Given the description of an element on the screen output the (x, y) to click on. 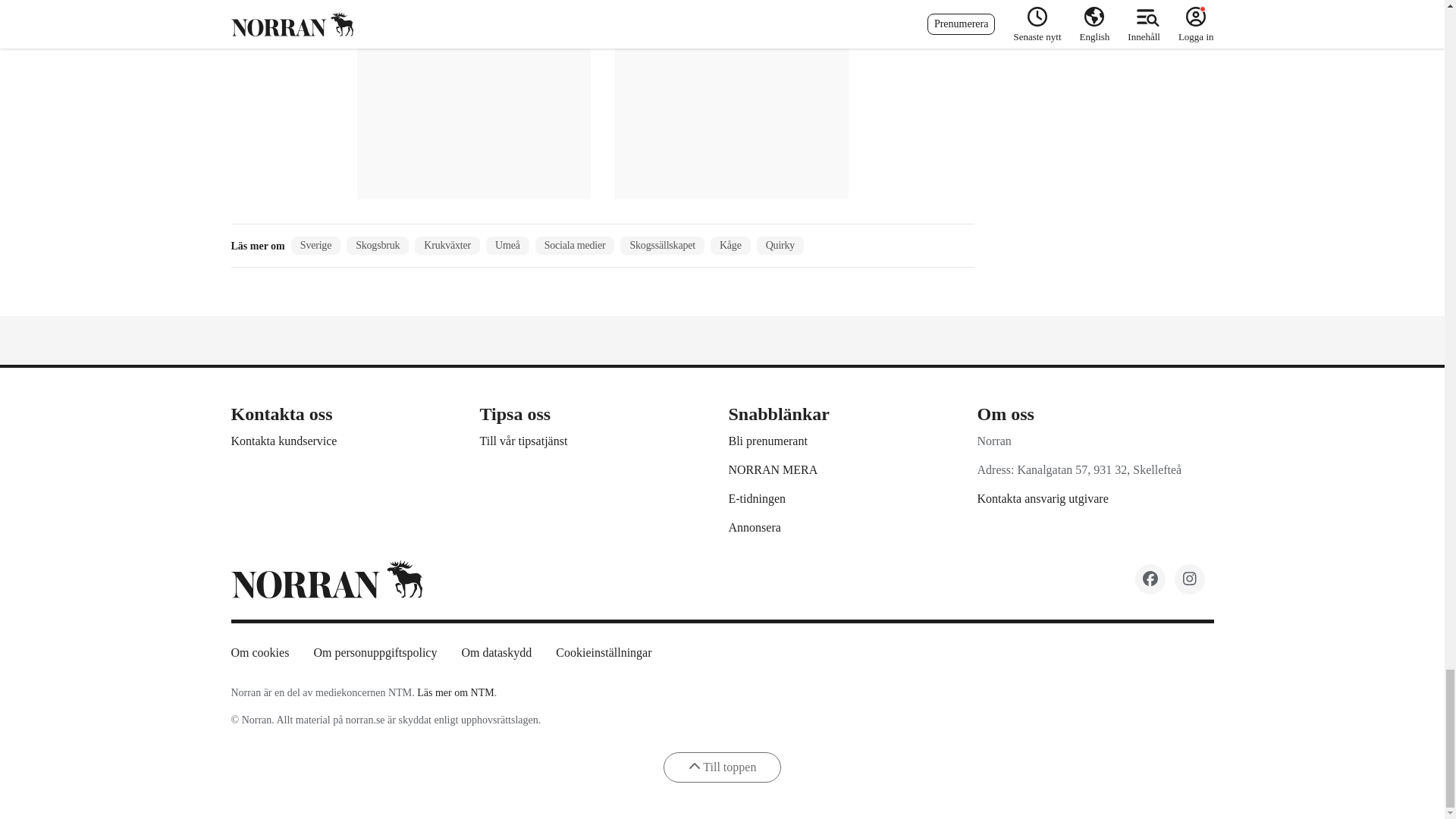
NORRAN MERA (772, 468)
Kontakta kundservice (283, 440)
Om personuppgiftspolicy (374, 652)
Visa fler artiklar om Sverige (315, 245)
Kontakta ansvarig utgivare (1042, 497)
Quirky (780, 245)
E-tidningen (757, 497)
Sverige (315, 245)
Om cookies (259, 652)
Om dataskydd (496, 652)
Skogsbruk (377, 245)
Bli prenumerant (767, 440)
Annonsera (754, 526)
 Till toppen (722, 767)
Sociala medier (574, 245)
